Given the description of an element on the screen output the (x, y) to click on. 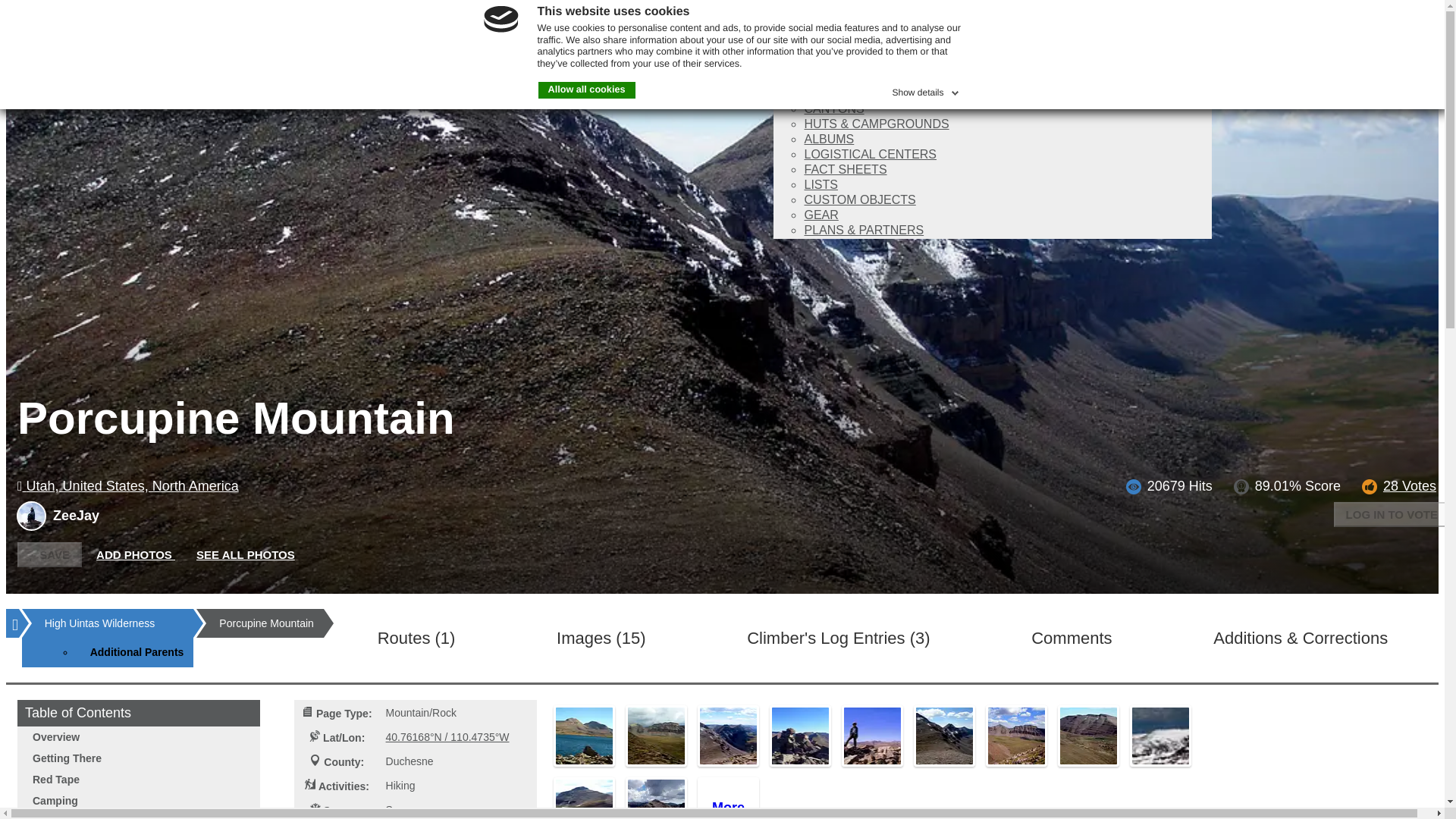
Show details (925, 89)
Allow all cookies (586, 89)
